Given the description of an element on the screen output the (x, y) to click on. 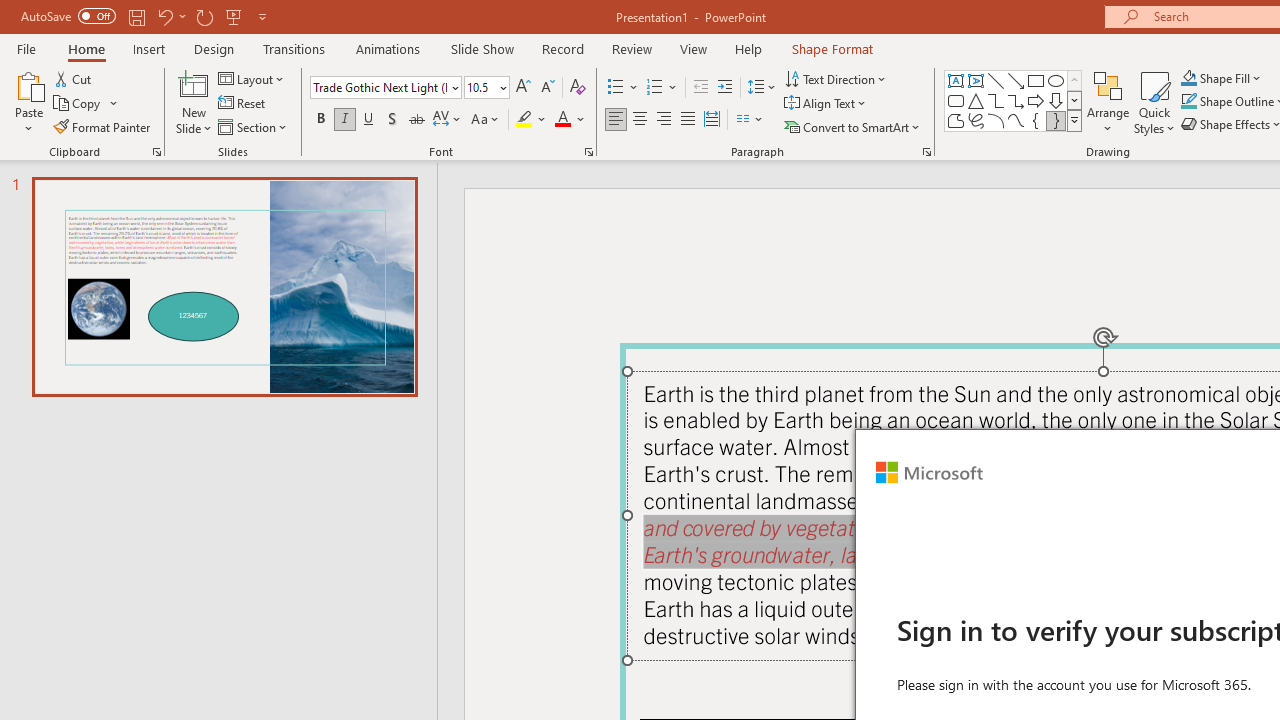
Arc (995, 120)
Layout (252, 78)
Arrange (1108, 102)
Isosceles Triangle (975, 100)
Change Case (486, 119)
Connector: Elbow Arrow (1016, 100)
Increase Indent (725, 87)
Distributed (712, 119)
Rectangle: Rounded Corners (955, 100)
